Given the description of an element on the screen output the (x, y) to click on. 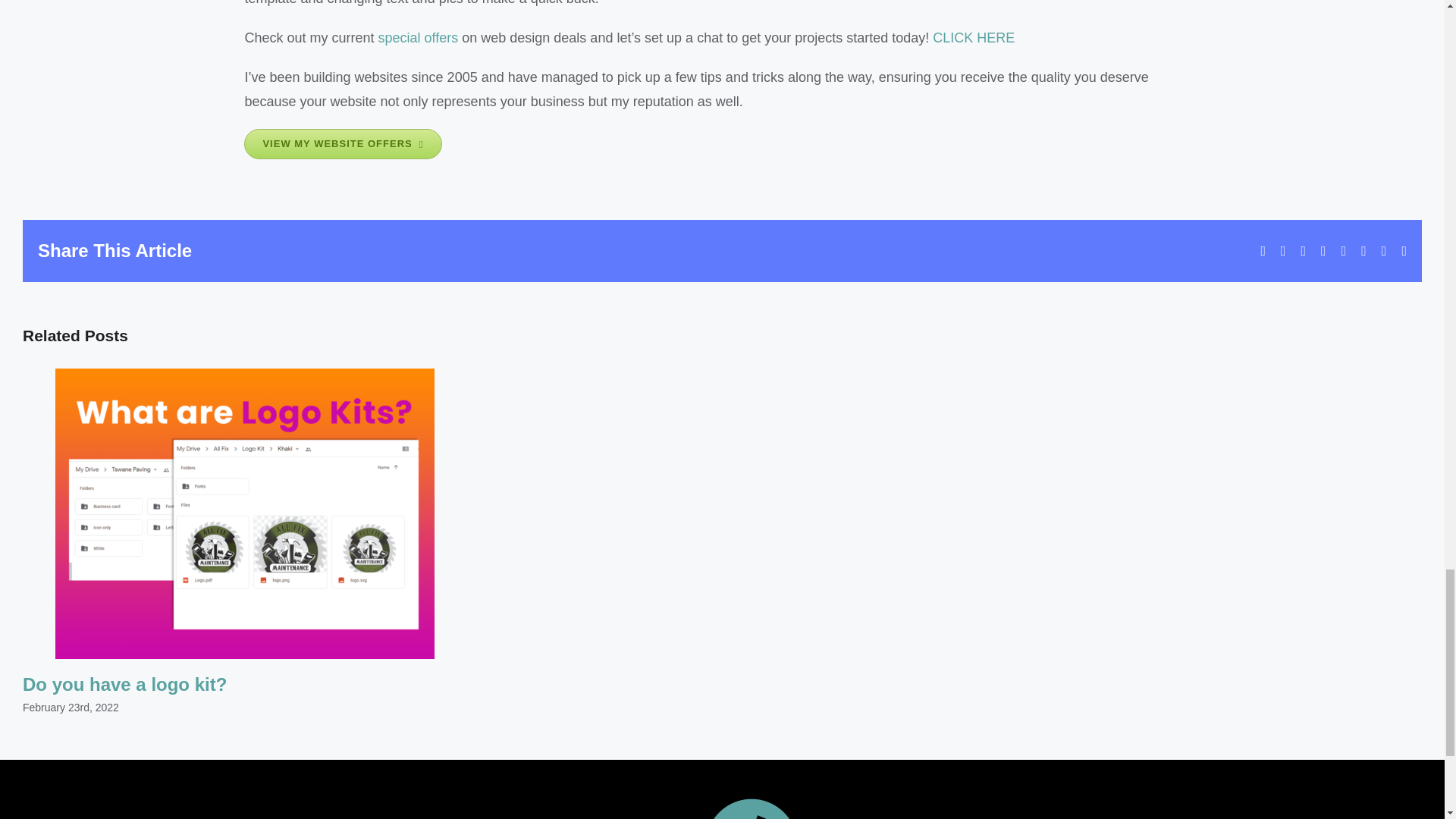
special offers (418, 37)
CLICK HERE (973, 37)
Do you have a logo kit? (125, 684)
VIEW MY WEBSITE OFFERS (342, 143)
